Given the description of an element on the screen output the (x, y) to click on. 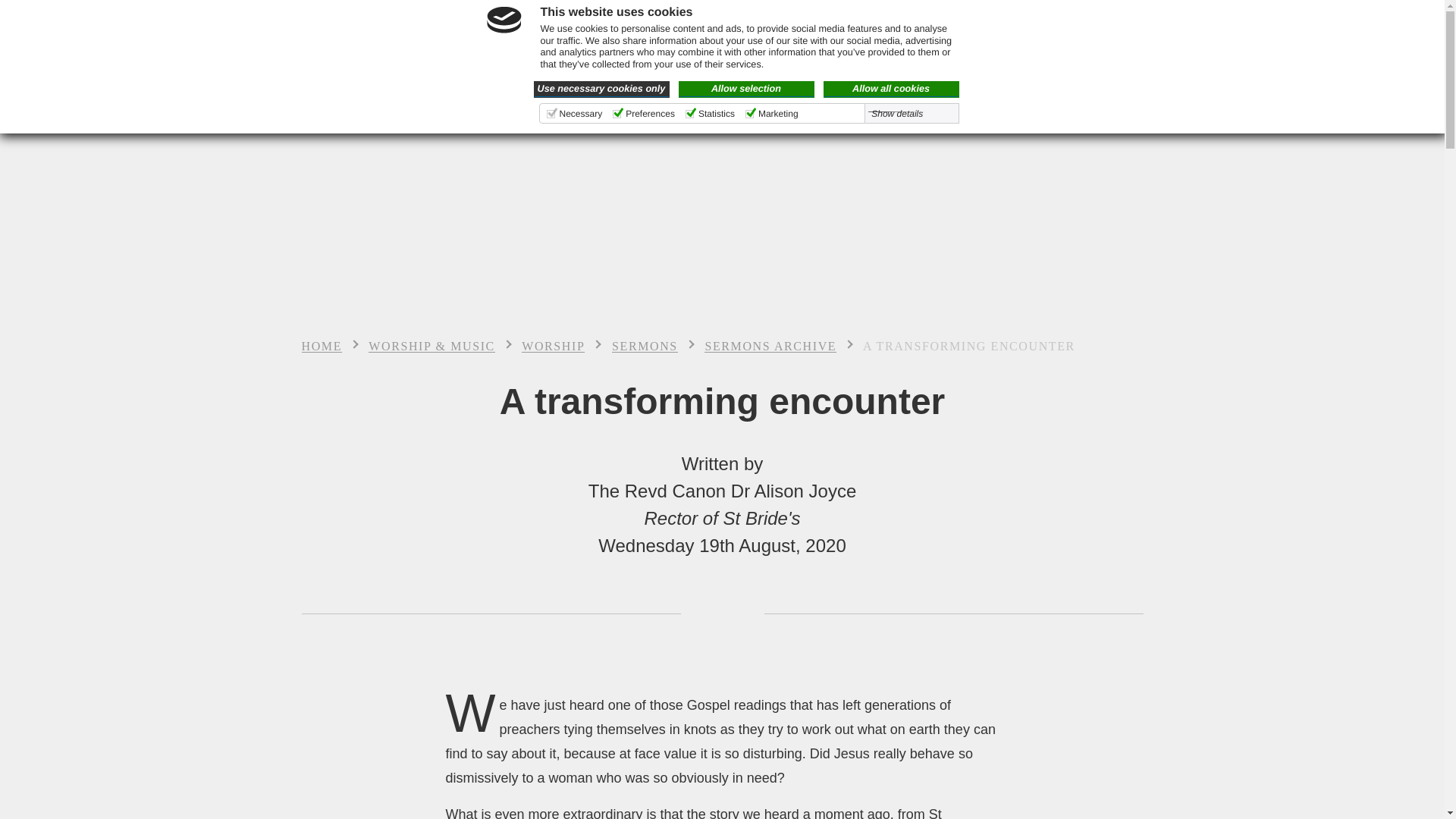
Show details (903, 113)
Allow all cookies (891, 89)
Use necessary cookies only (601, 89)
Allow selection (745, 89)
